Given the description of an element on the screen output the (x, y) to click on. 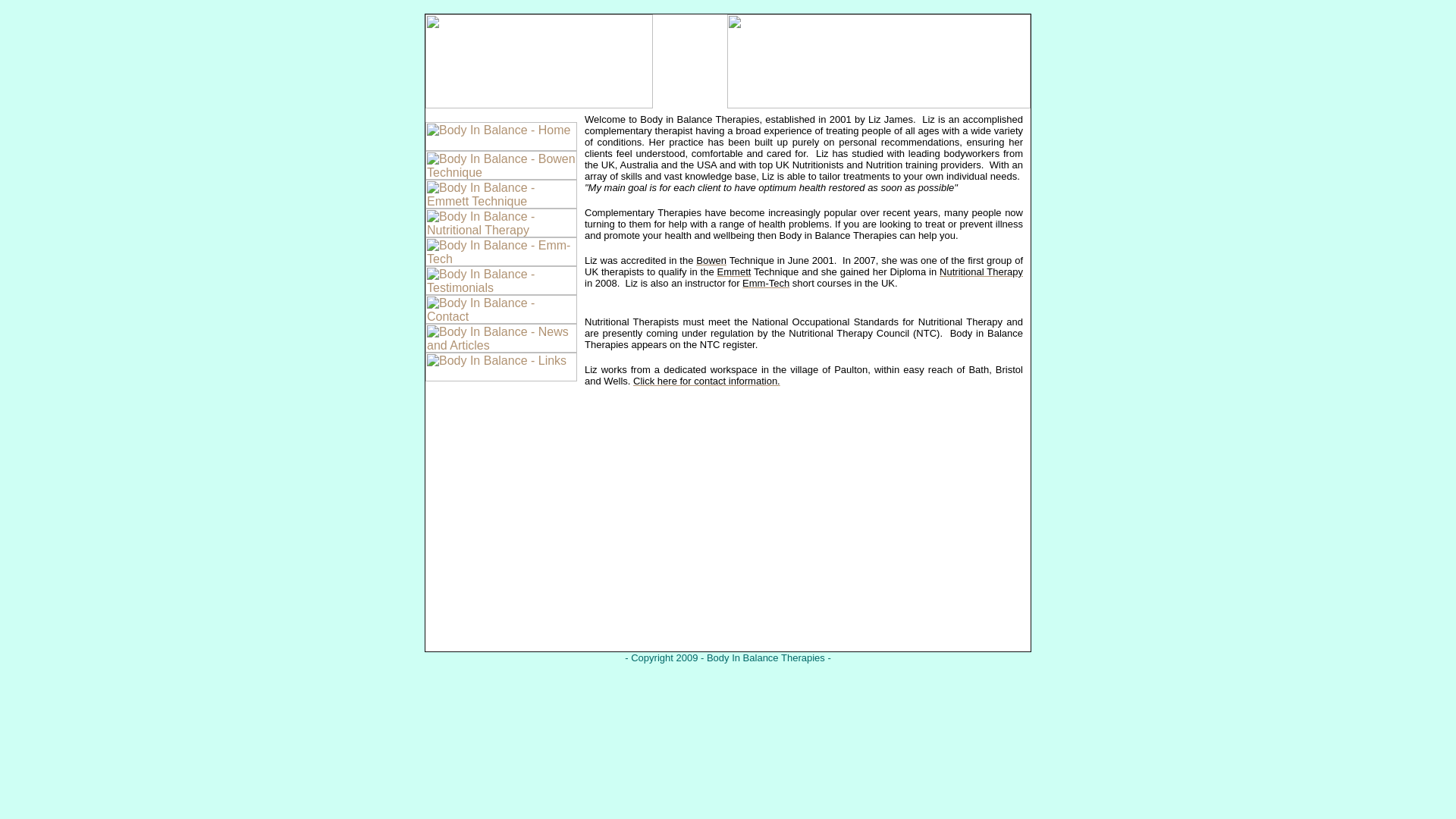
Nutritional Therapy (981, 271)
Click (645, 380)
Emm-Tech (765, 283)
here for contact information. (719, 380)
Emmett (734, 271)
Bowen (710, 260)
